Given the description of an element on the screen output the (x, y) to click on. 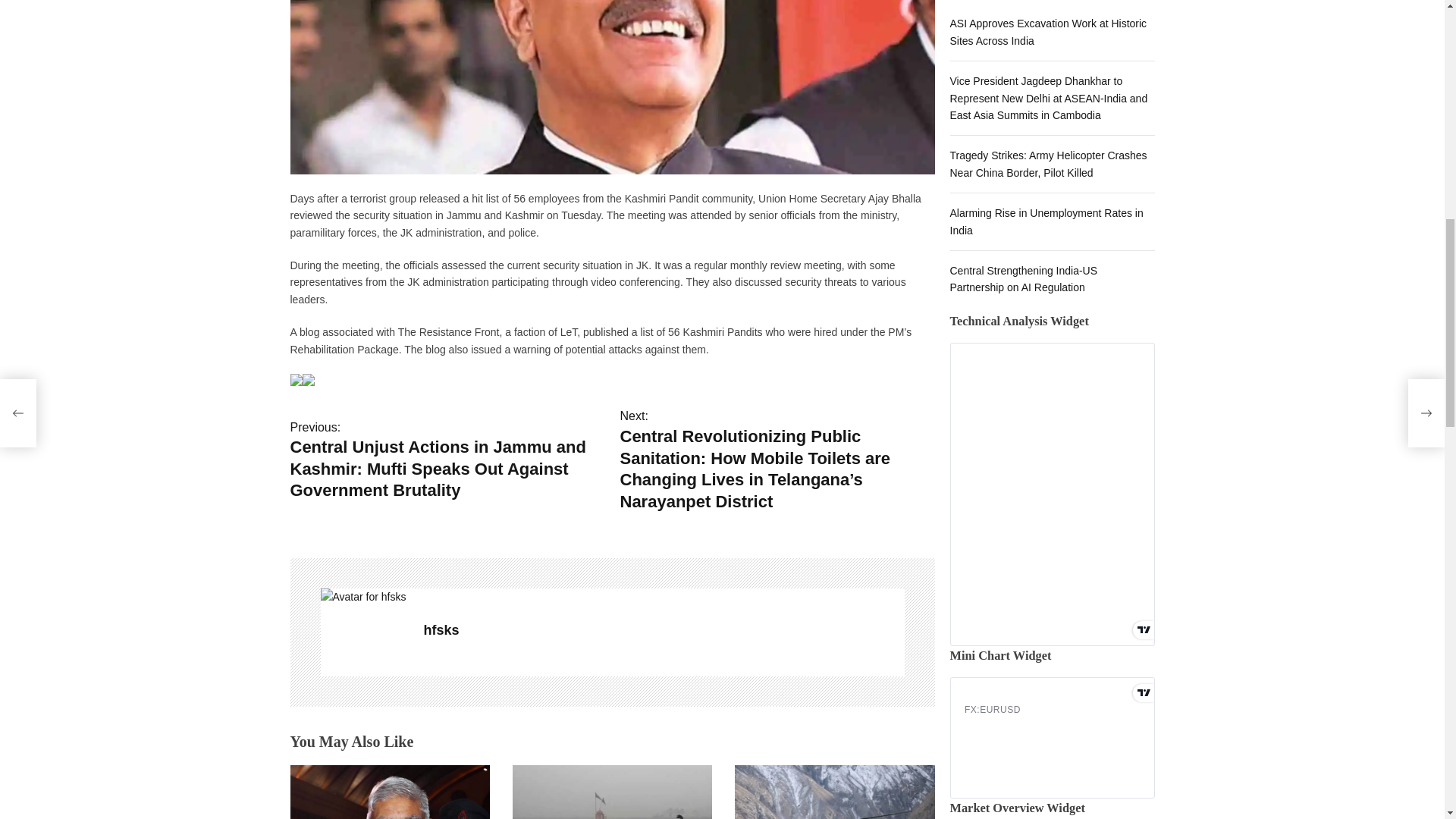
technical analysis TradingView widget (1051, 107)
hfsks (663, 630)
mini symbol-overview TradingView widget (1051, 306)
hfsks (363, 596)
